Given the description of an element on the screen output the (x, y) to click on. 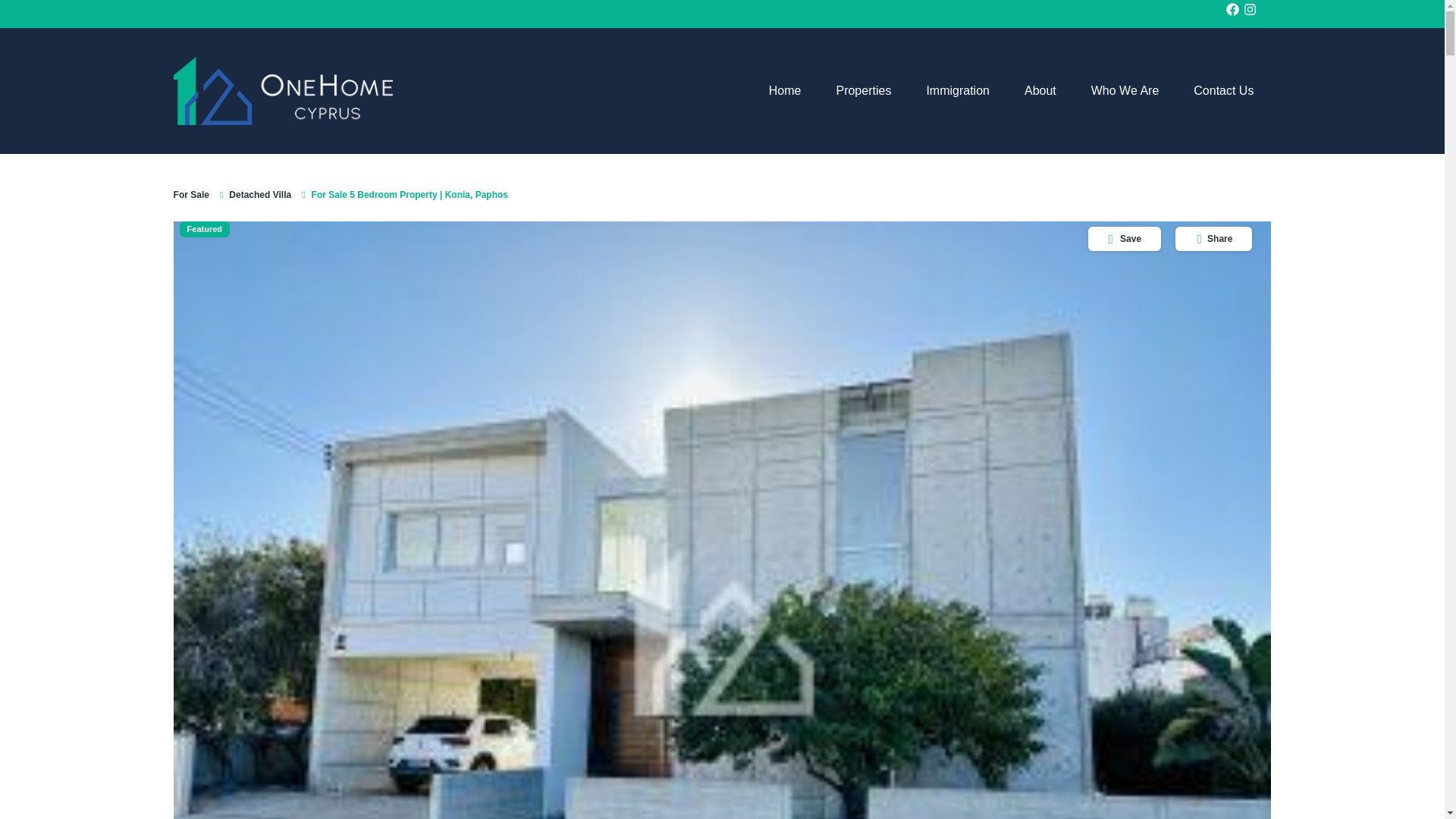
Properties (863, 90)
Who We Are (1125, 90)
Home (784, 90)
Immigration (957, 90)
Contact Us (1223, 90)
About (1040, 90)
